Given the description of an element on the screen output the (x, y) to click on. 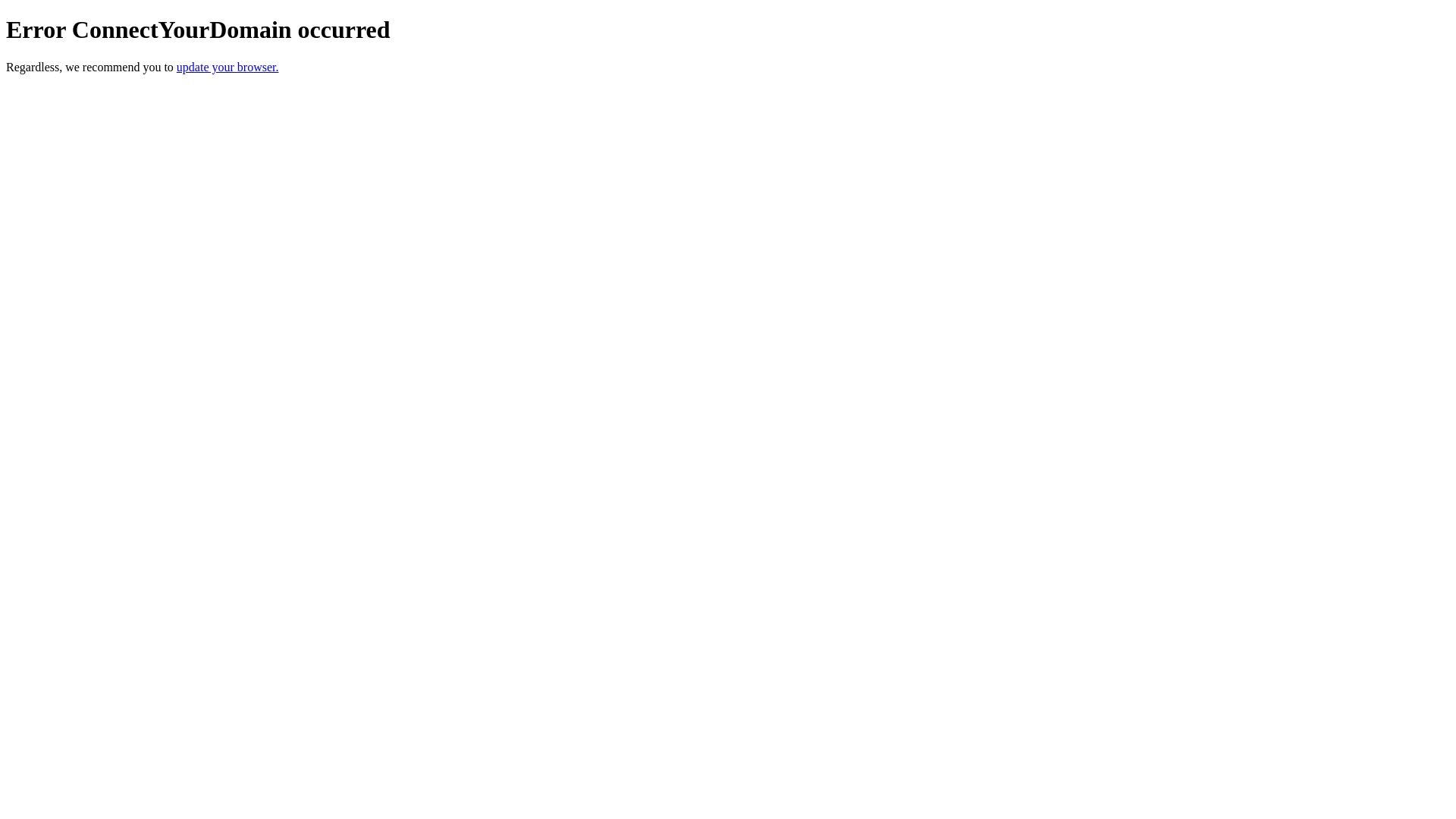
update your browser. Element type: text (227, 66)
